Given the description of an element on the screen output the (x, y) to click on. 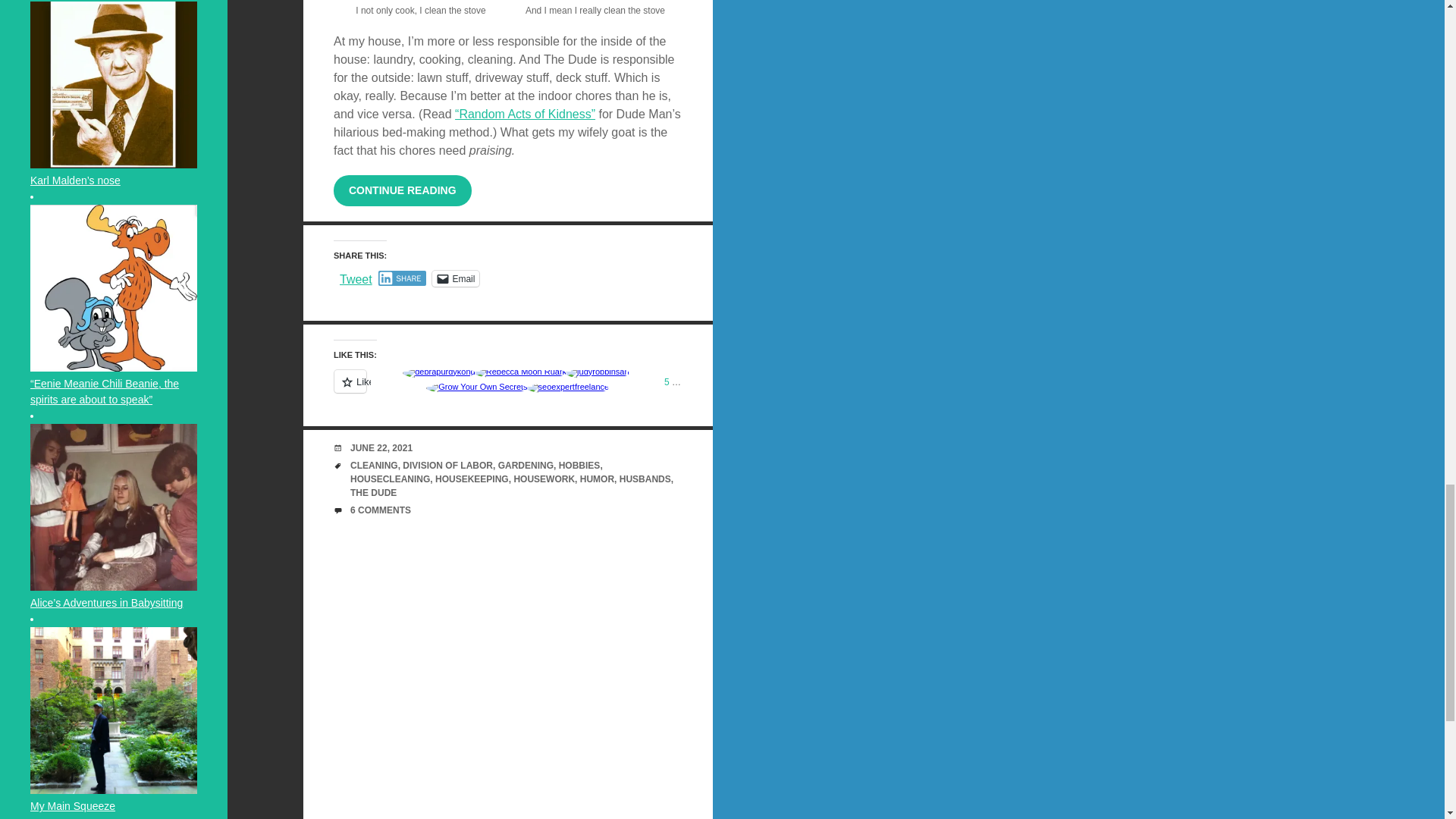
Click to email a link to a friend (455, 278)
Karl Malden's nose (113, 84)
Alice's Adventures in Babysitting (113, 507)
5:40 pm (381, 448)
My Main Squeeze (113, 710)
Like or Reblog (507, 390)
"Eenie Meanie Chili Beanie, the spirits are about to speak" (113, 287)
